Given the description of an element on the screen output the (x, y) to click on. 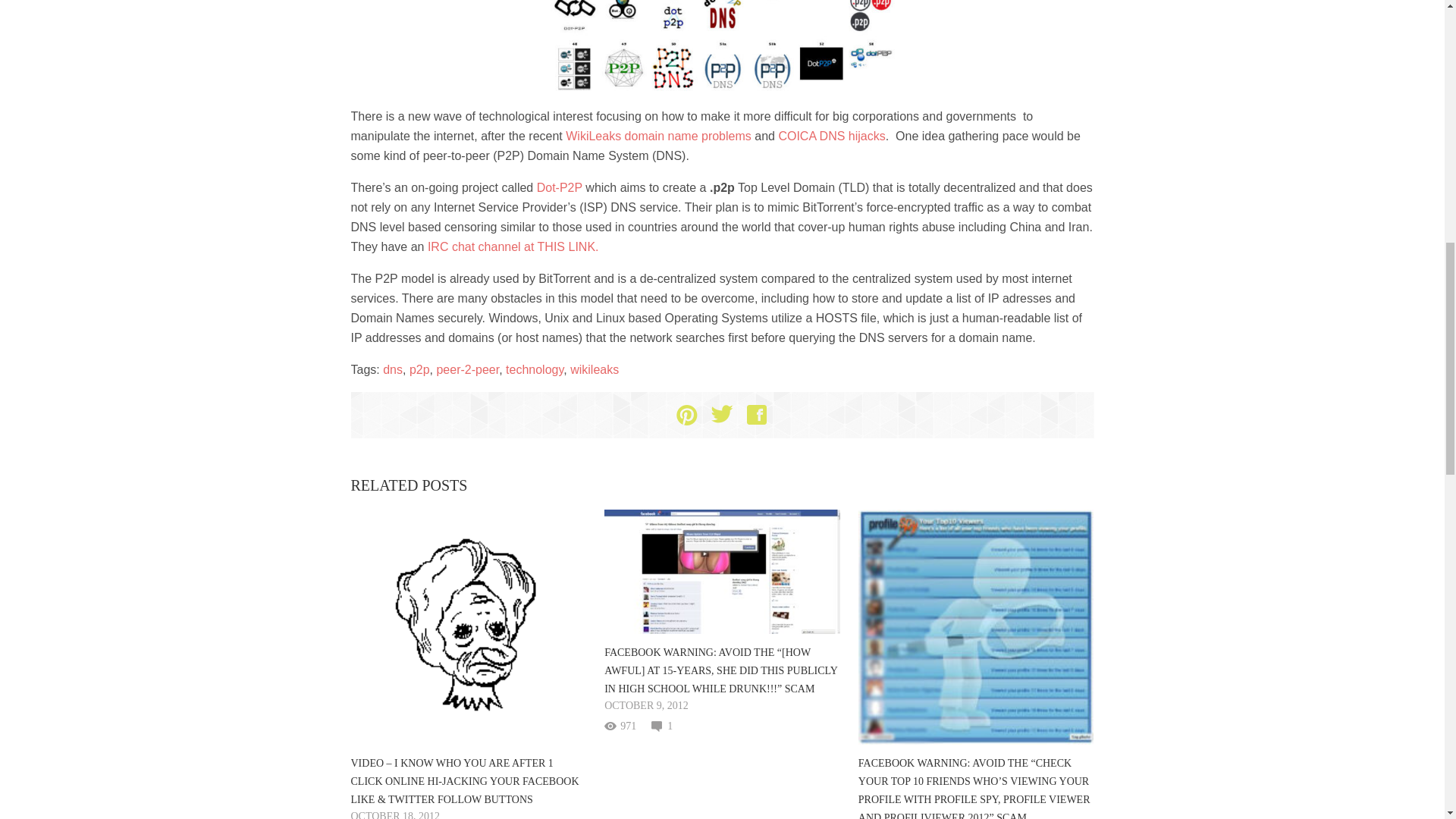
COICA DNS hijacks (831, 135)
External Link (559, 187)
Dot-P2P (559, 187)
dot-p2p-logos (722, 47)
IRC chat channel at THIS LINK. (513, 246)
technology (534, 369)
wikileaks (594, 369)
p2p (419, 369)
External Link (513, 246)
peer-2-peer (467, 369)
